Given the description of an element on the screen output the (x, y) to click on. 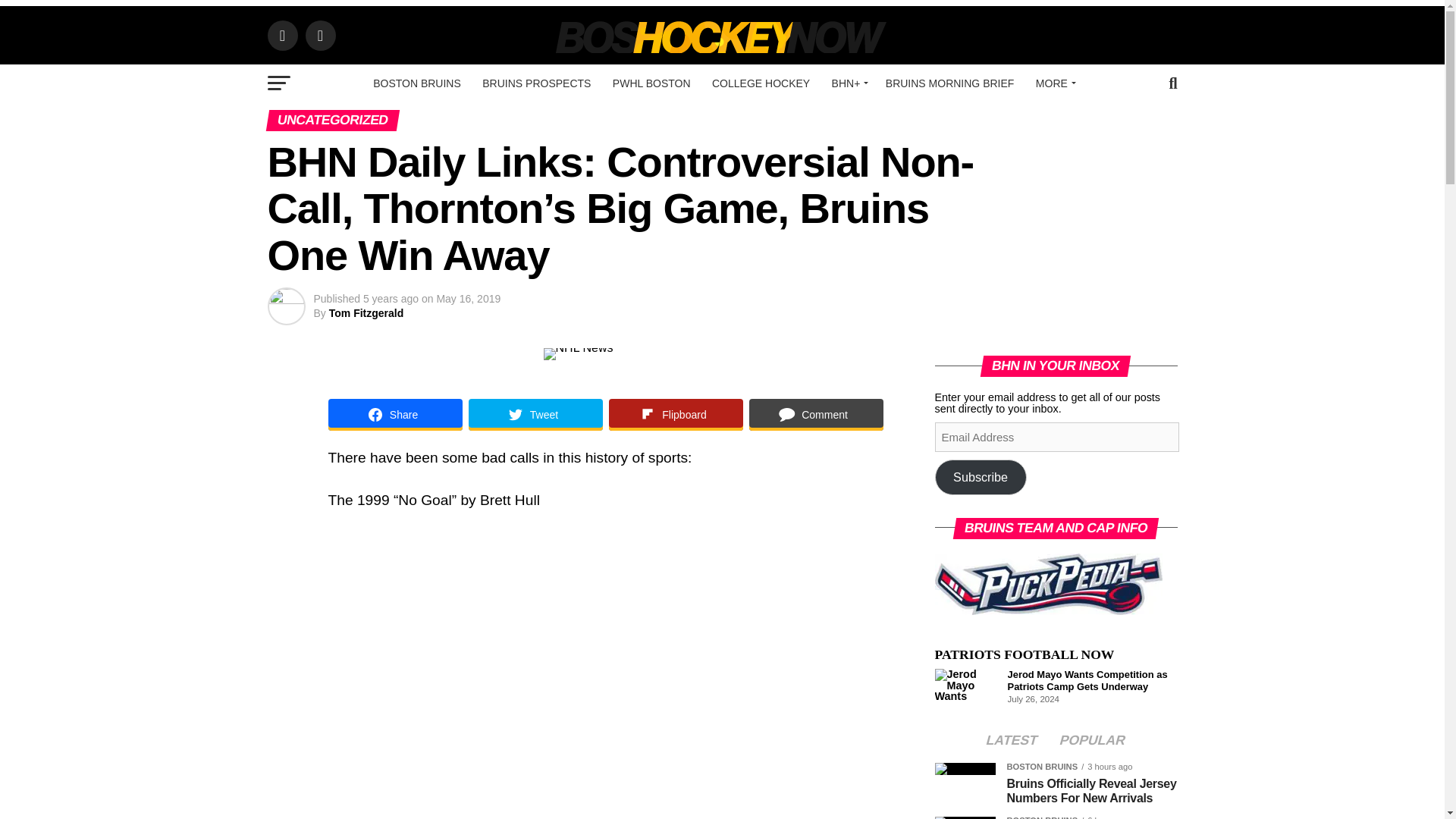
Share on Comment (816, 414)
Posts by Tom Fitzgerald (366, 313)
Bruins Team and Cap Info (1047, 584)
Share on Flipboard (675, 414)
Share on Share (394, 414)
Share on Tweet (535, 414)
